Given the description of an element on the screen output the (x, y) to click on. 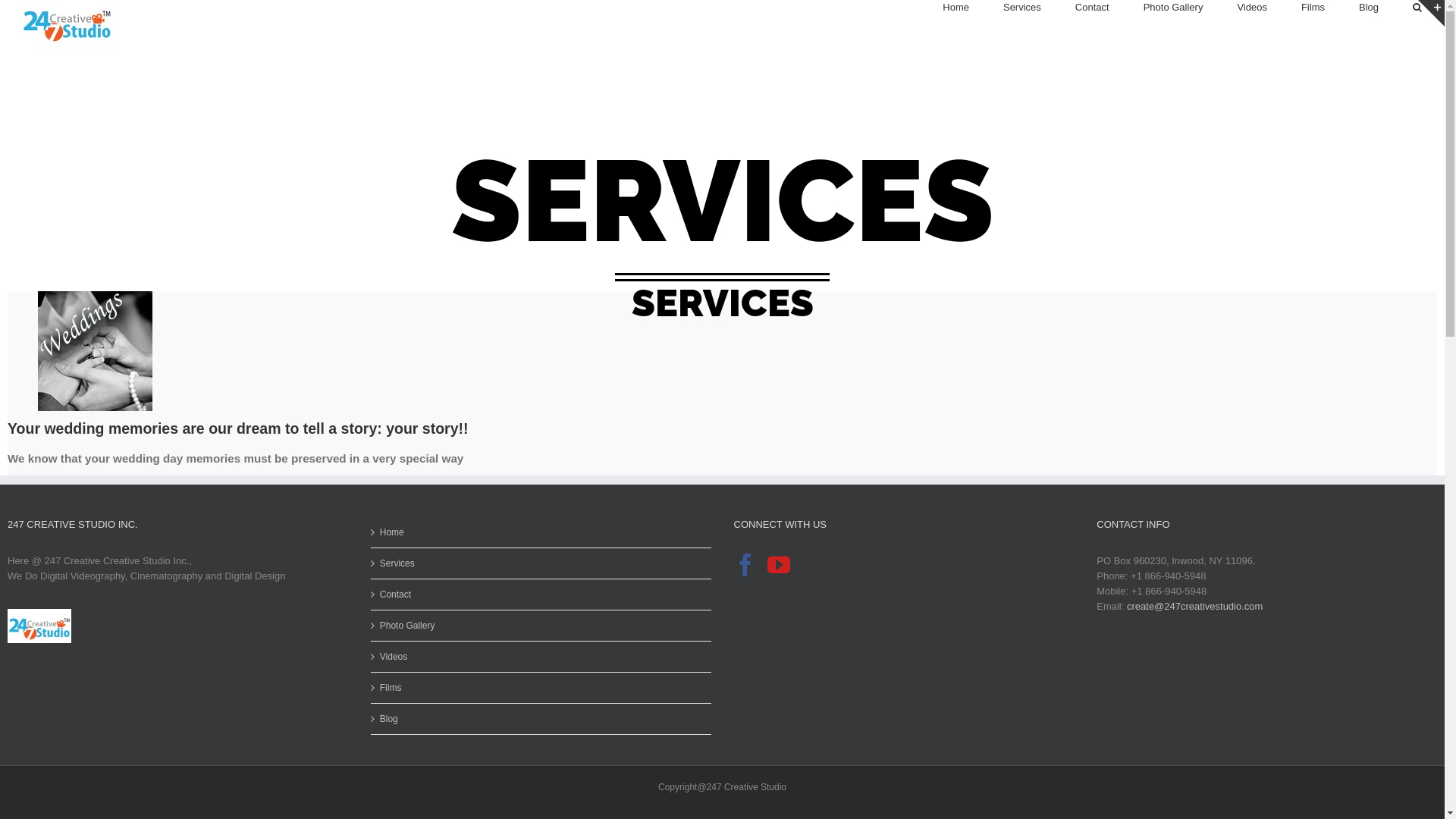
Videos Element type: text (541, 656)
Videos Element type: text (1251, 7)
Blog Element type: text (1368, 7)
Services Element type: text (541, 563)
Photo Gallery Element type: text (541, 625)
Home Element type: text (955, 7)
Contact Element type: text (1092, 7)
Services Element type: text (1022, 7)
Blog Element type: text (541, 718)
Contact Element type: text (541, 594)
Photo Gallery Element type: text (1173, 7)
Youtube Element type: hover (778, 564)
Facebook Element type: hover (745, 564)
Films Element type: text (1312, 7)
Home Element type: text (541, 531)
create@247creativestudio.com Element type: text (1194, 605)
Films Element type: text (541, 687)
